Given the description of an element on the screen output the (x, y) to click on. 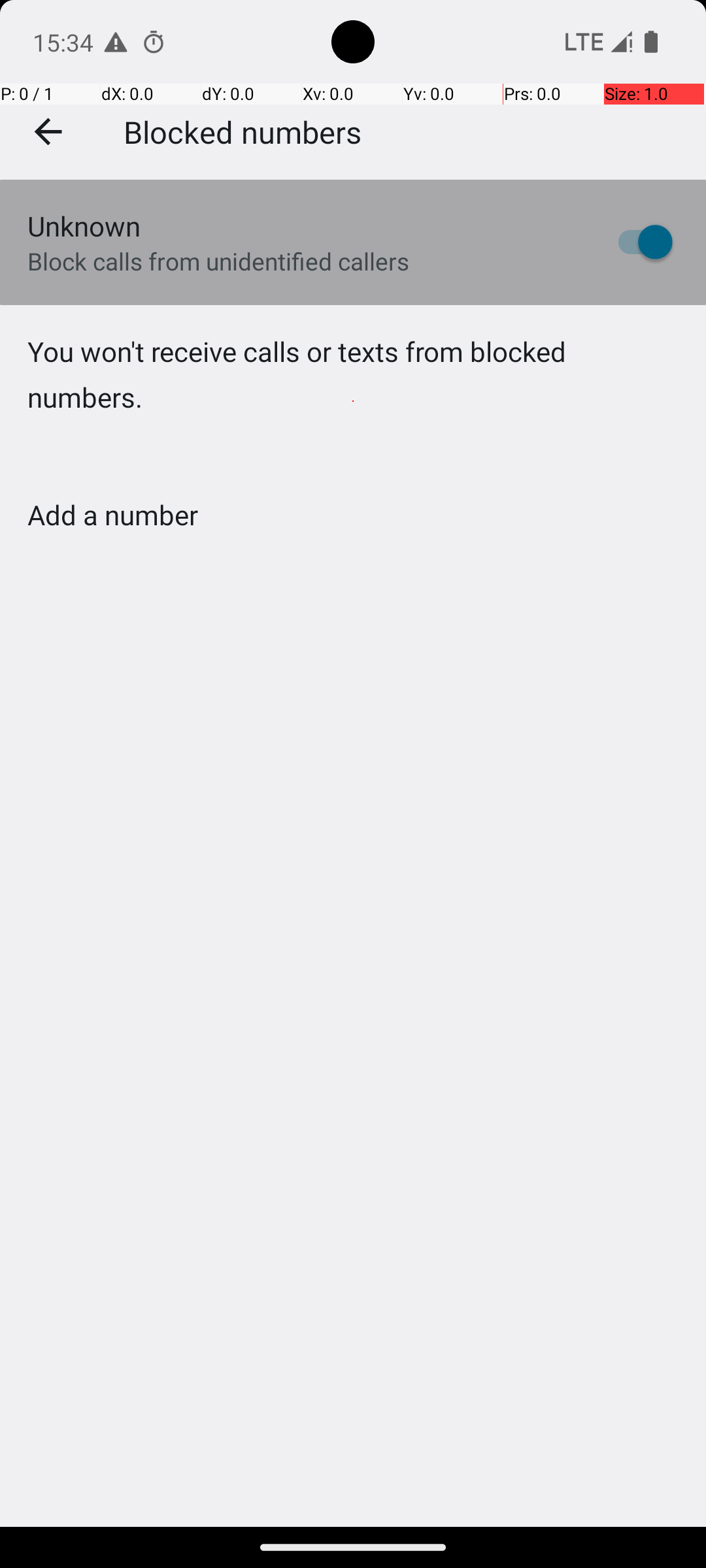
Blocked numbers Element type: android.widget.TextView (242, 131)
You won't receive calls or texts from blocked numbers. Element type: android.widget.TextView (352, 401)
Add a number Element type: android.widget.TextView (112, 514)
Unknown Element type: android.widget.TextView (83, 225)
Block calls from unidentified callers Element type: android.widget.TextView (218, 260)
